Given the description of an element on the screen output the (x, y) to click on. 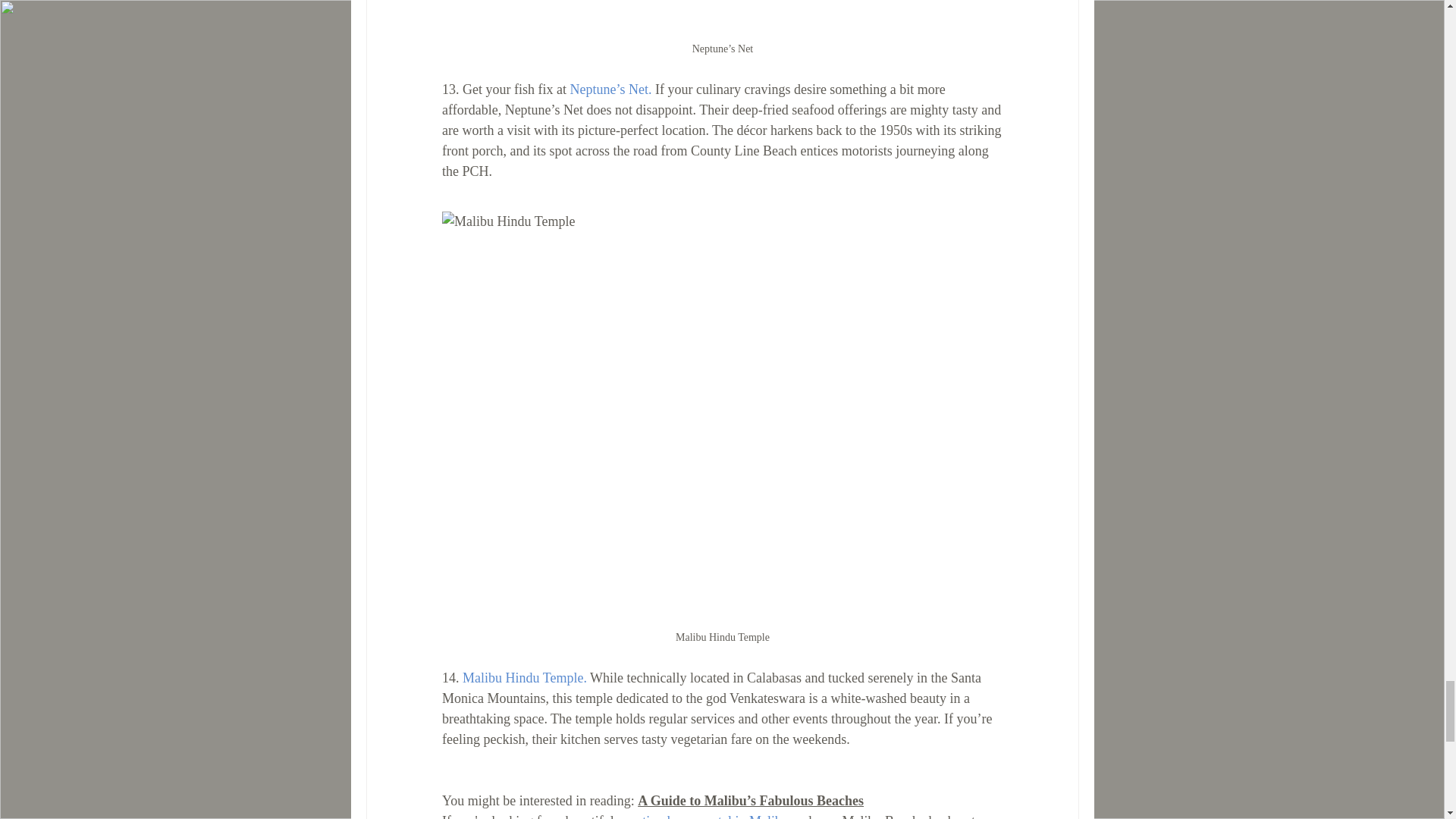
Malibu Hindu Temple. (524, 677)
vacation home rental in Malibu (703, 816)
